Given the description of an element on the screen output the (x, y) to click on. 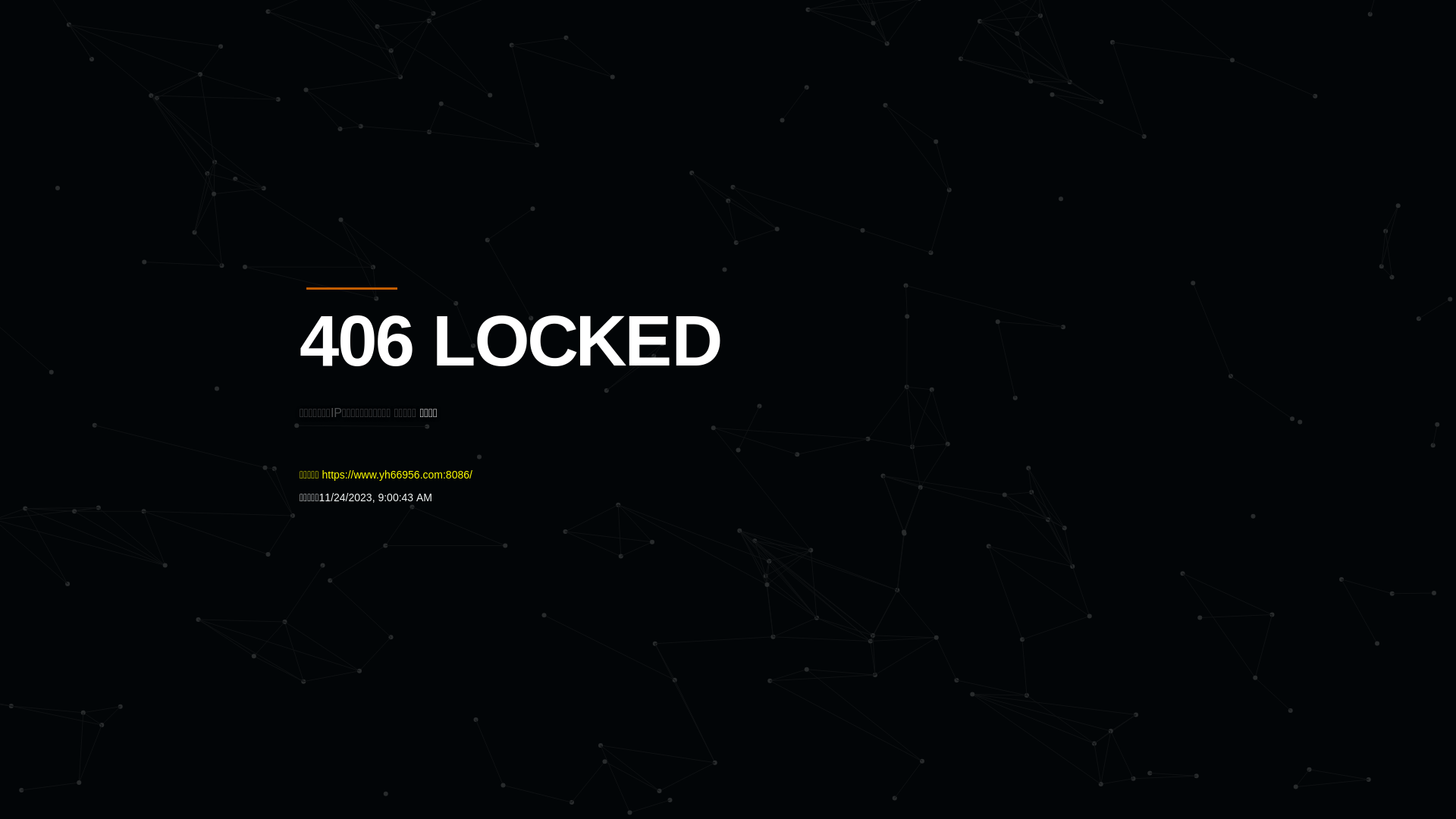
Quatro Element type: text (410, 86)
